Given the description of an element on the screen output the (x, y) to click on. 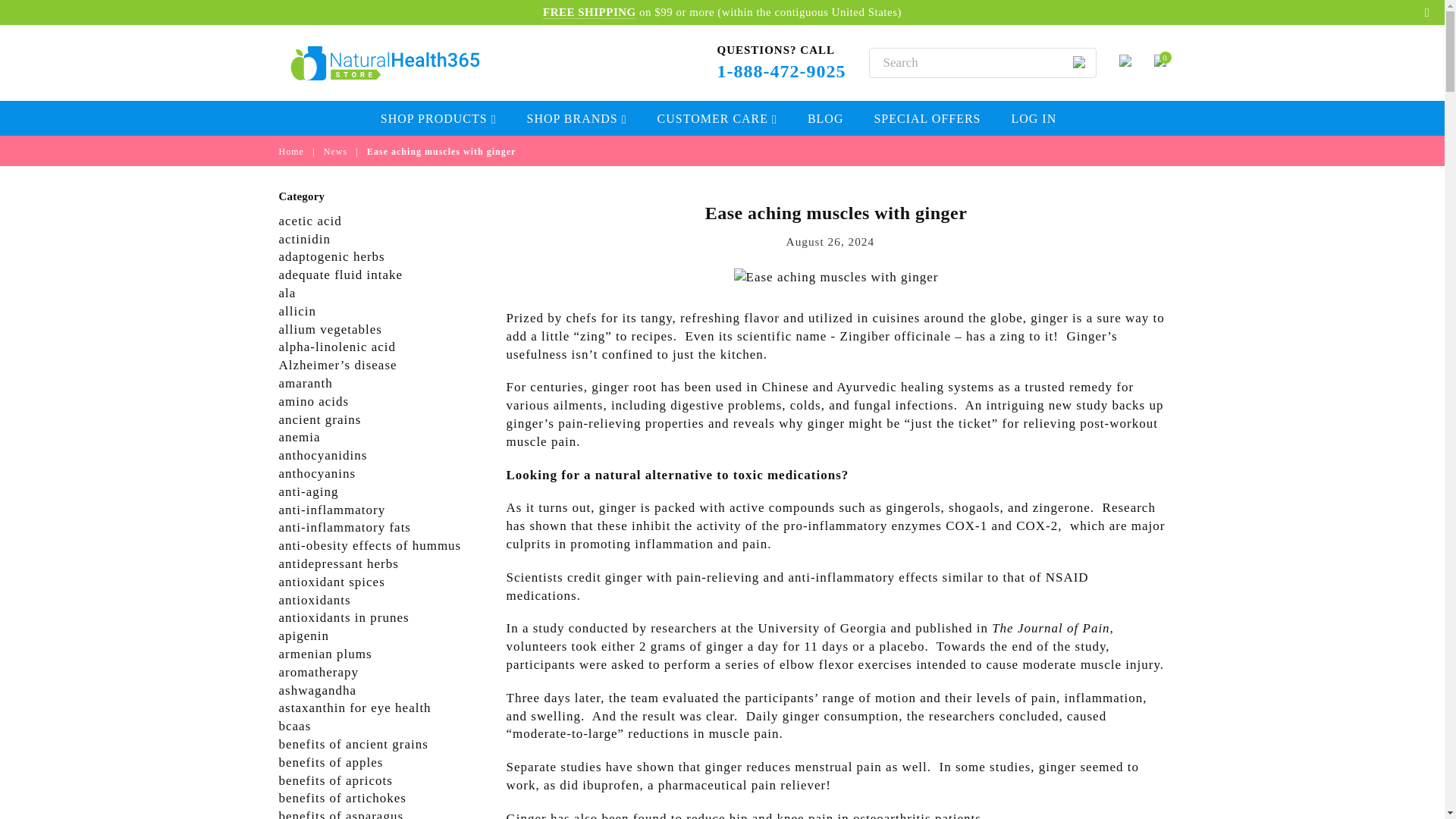
NaturalHealth365Store (396, 63)
Show articles tagged ala (288, 292)
Show articles tagged alpha-linolenic acid (337, 346)
1-888-472-9025 (781, 71)
SHOP PRODUCTS (438, 118)
Show articles tagged allium vegetables (330, 329)
Show articles tagged allicin (297, 310)
Show articles tagged adaptogenic herbs (332, 256)
Show articles tagged adequate fluid intake (341, 274)
Back to the home page (292, 151)
